Given the description of an element on the screen output the (x, y) to click on. 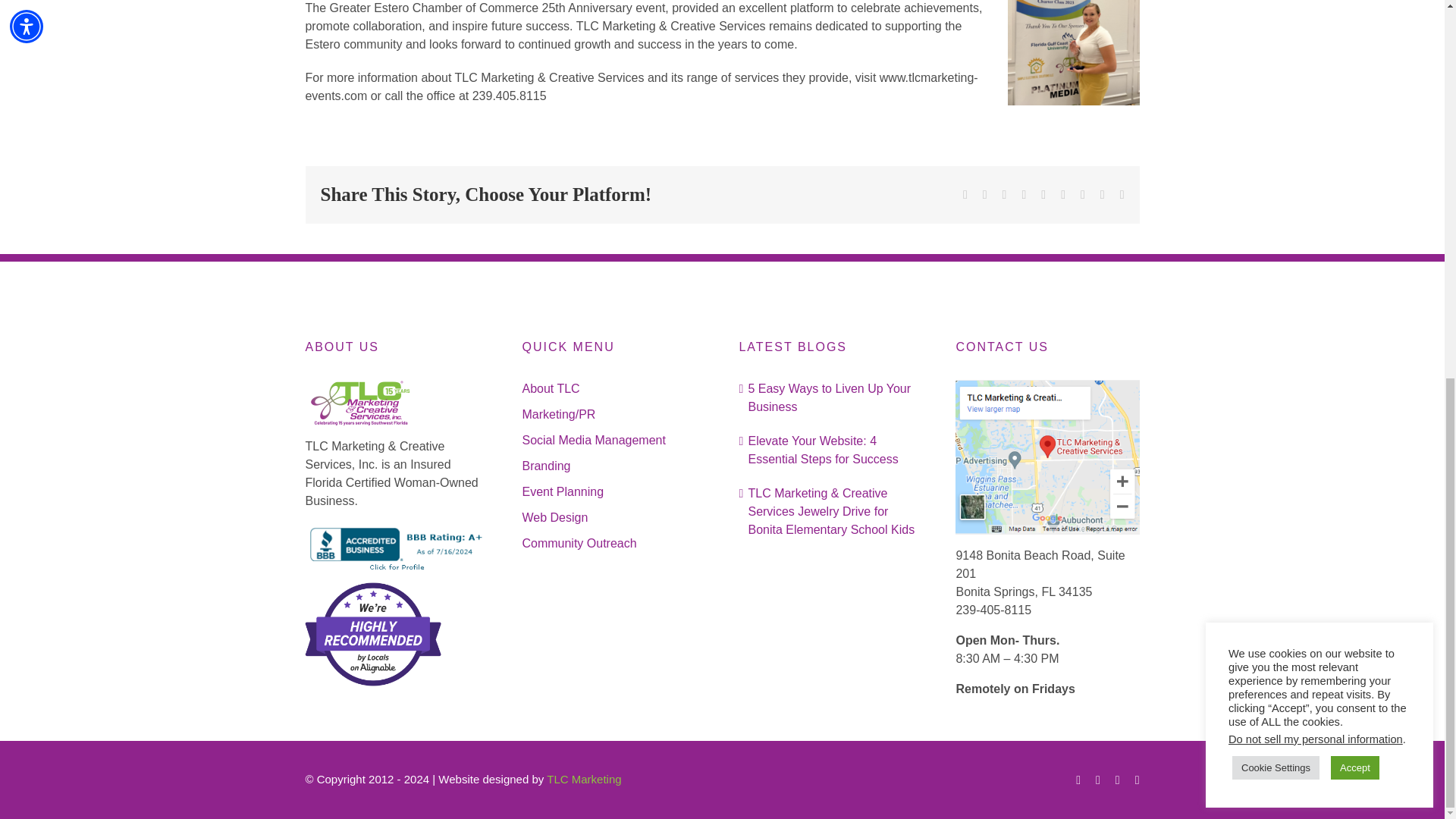
TLC 15th anniversary logo large png (361, 402)
Highly Recommended by Locals On Alignable (372, 634)
About TLC (612, 389)
